Given the description of an element on the screen output the (x, y) to click on. 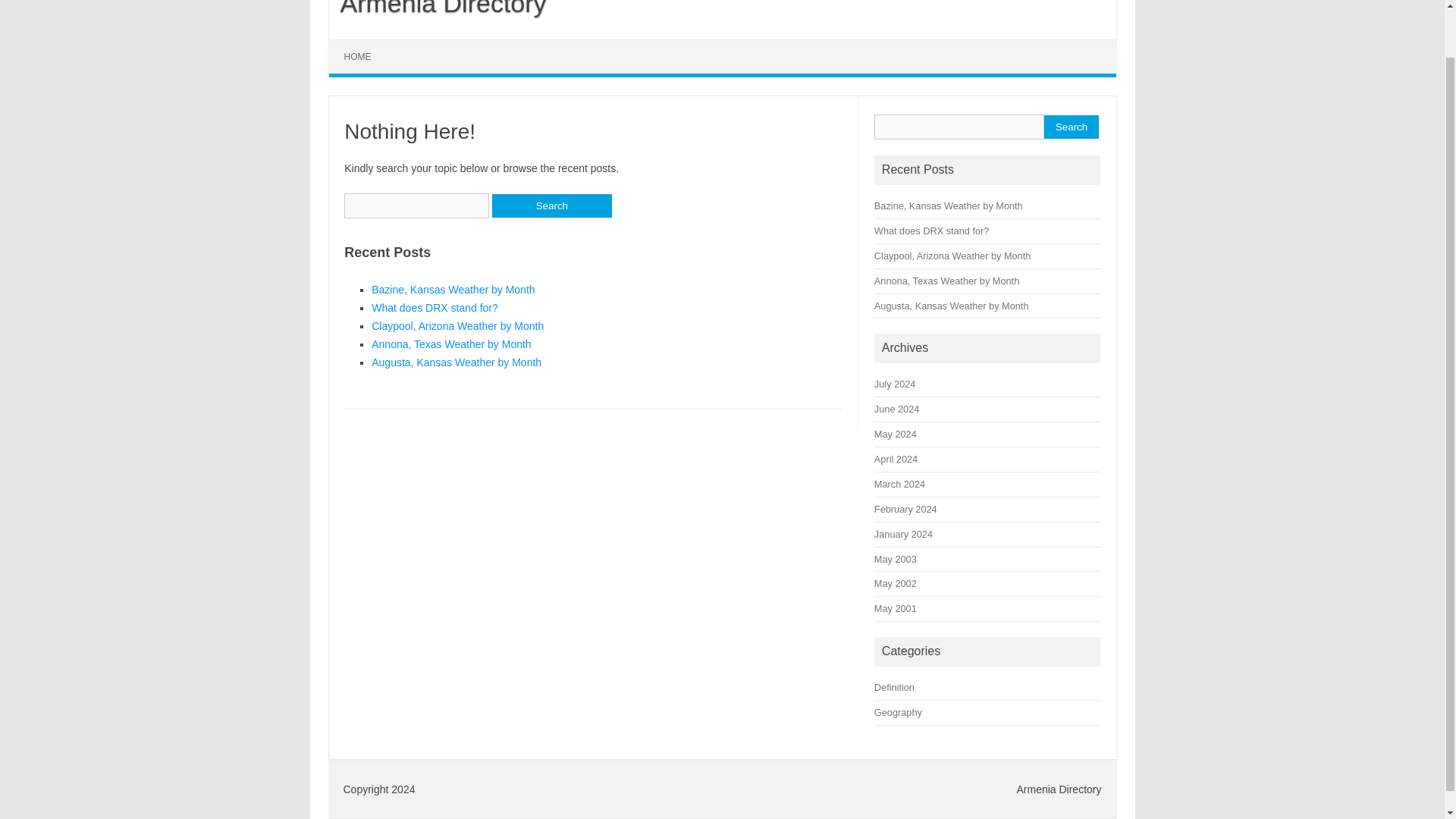
Annona, Texas Weather by Month (947, 280)
June 2024 (896, 408)
Geography (898, 712)
Definition (894, 686)
May 2002 (896, 583)
Augusta, Kansas Weather by Month (456, 362)
HOME (358, 56)
Search (551, 205)
Augusta, Kansas Weather by Month (952, 305)
Annona, Texas Weather by Month (451, 344)
Search (551, 205)
Search (1070, 126)
Skip to content (363, 44)
March 2024 (899, 483)
February 2024 (906, 509)
